Given the description of an element on the screen output the (x, y) to click on. 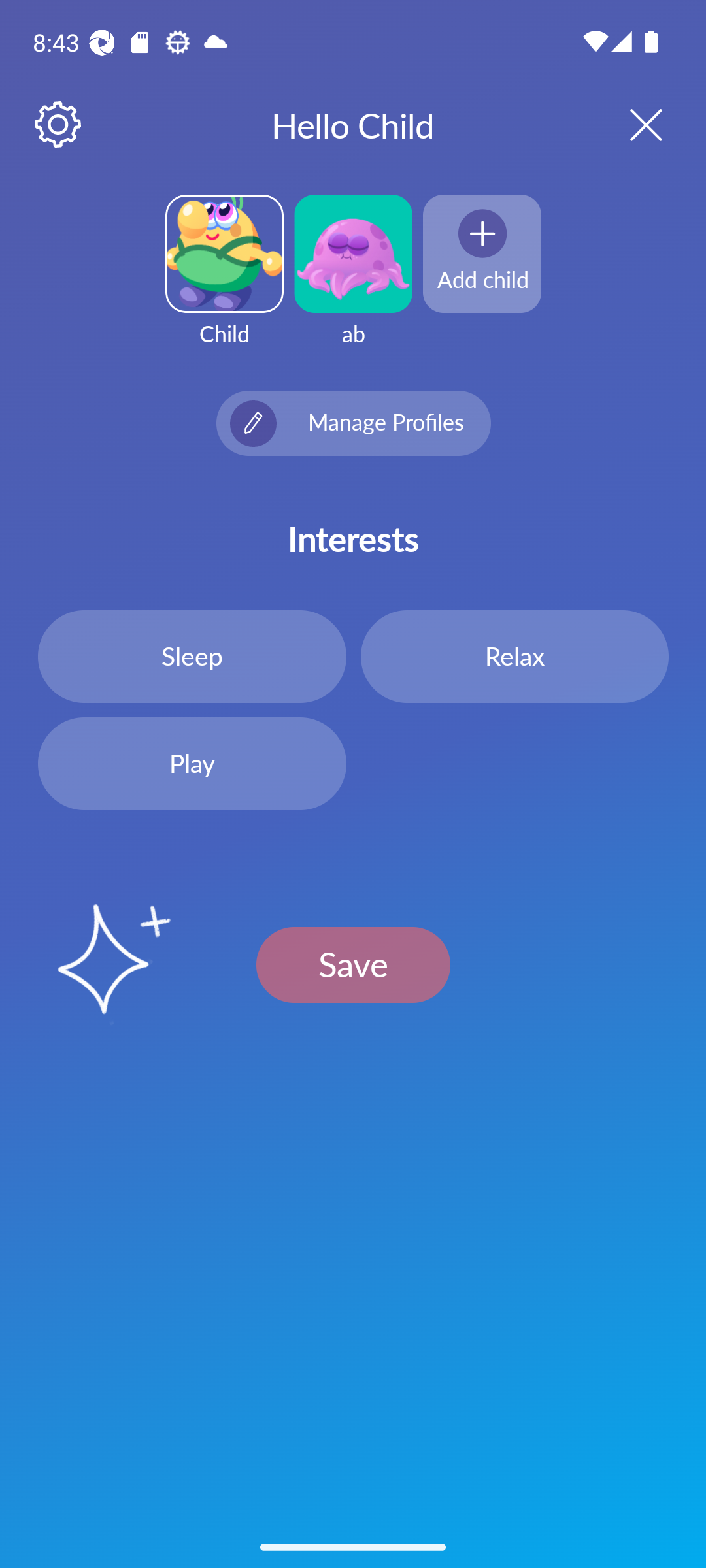
Close (629, 124)
Settings (58, 125)
Child (224, 282)
ab (353, 282)
Add child (481, 253)
icon Manage Profiles (353, 423)
Sleep (192, 655)
Relax (514, 655)
Play (192, 764)
Save (353, 964)
